Given the description of an element on the screen output the (x, y) to click on. 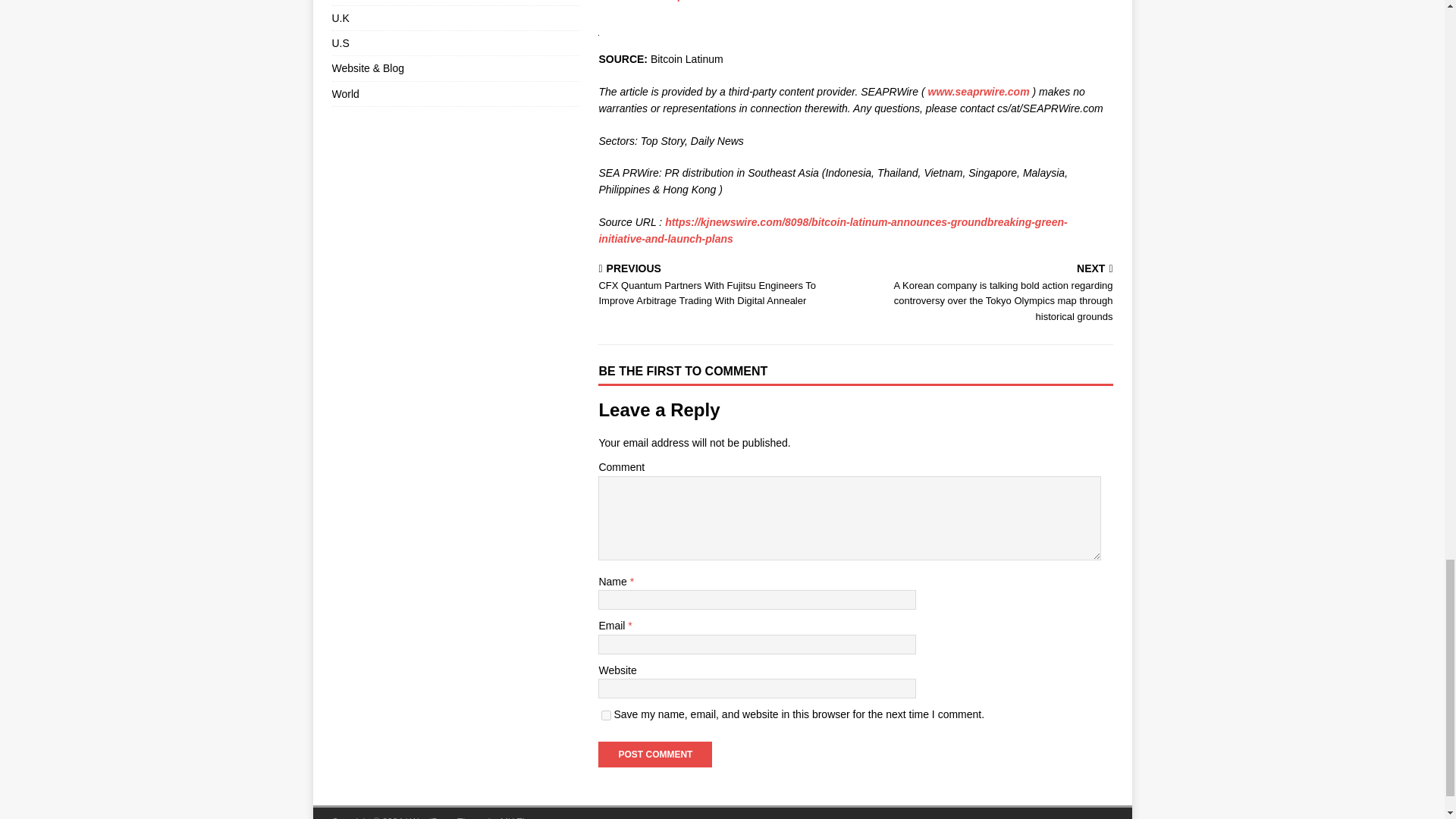
www.seaprwire.com (978, 91)
yes (606, 715)
Post Comment (654, 754)
Post Comment (654, 754)
